Given the description of an element on the screen output the (x, y) to click on. 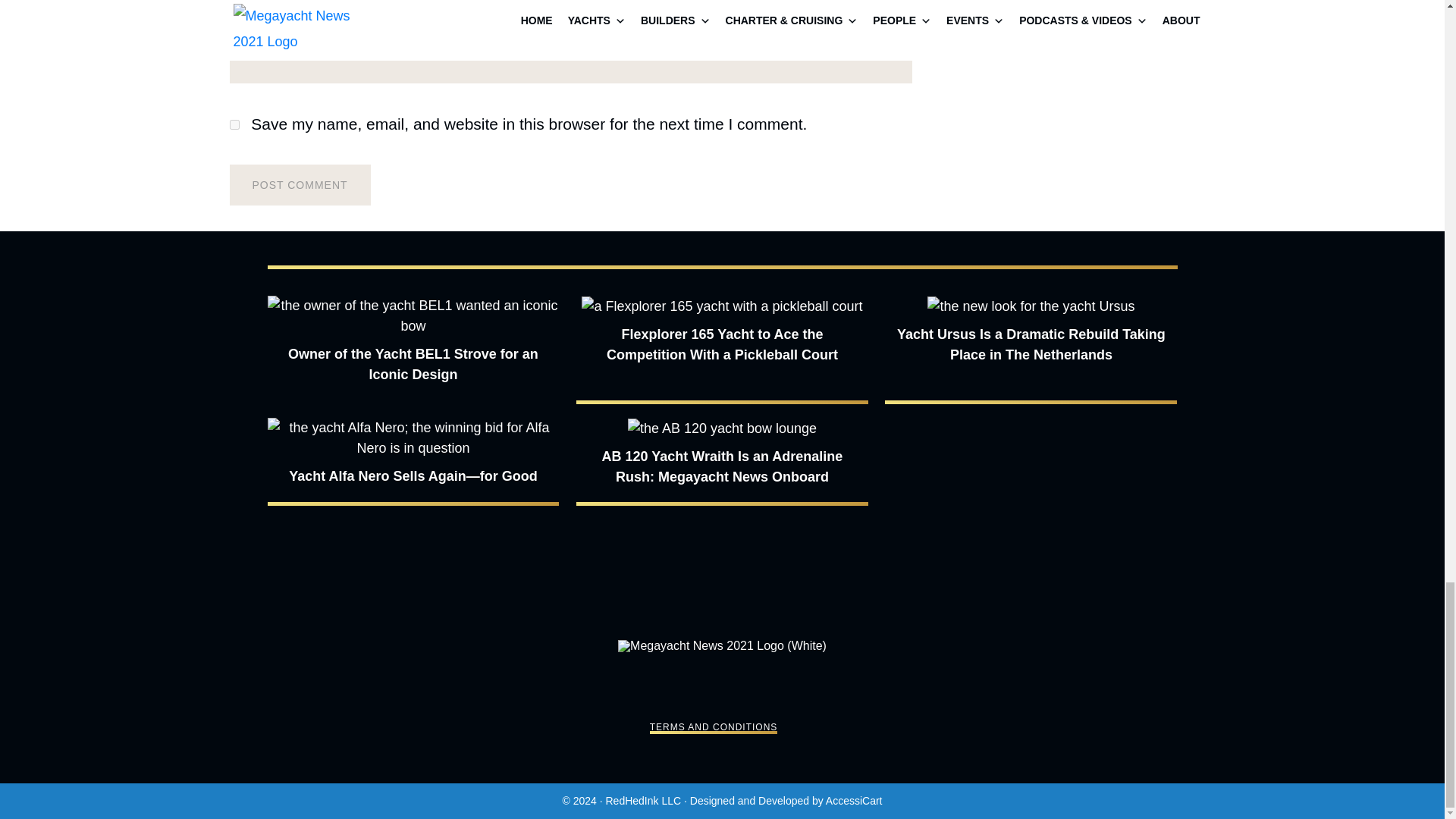
Post Comment (298, 184)
yes (233, 124)
